Given the description of an element on the screen output the (x, y) to click on. 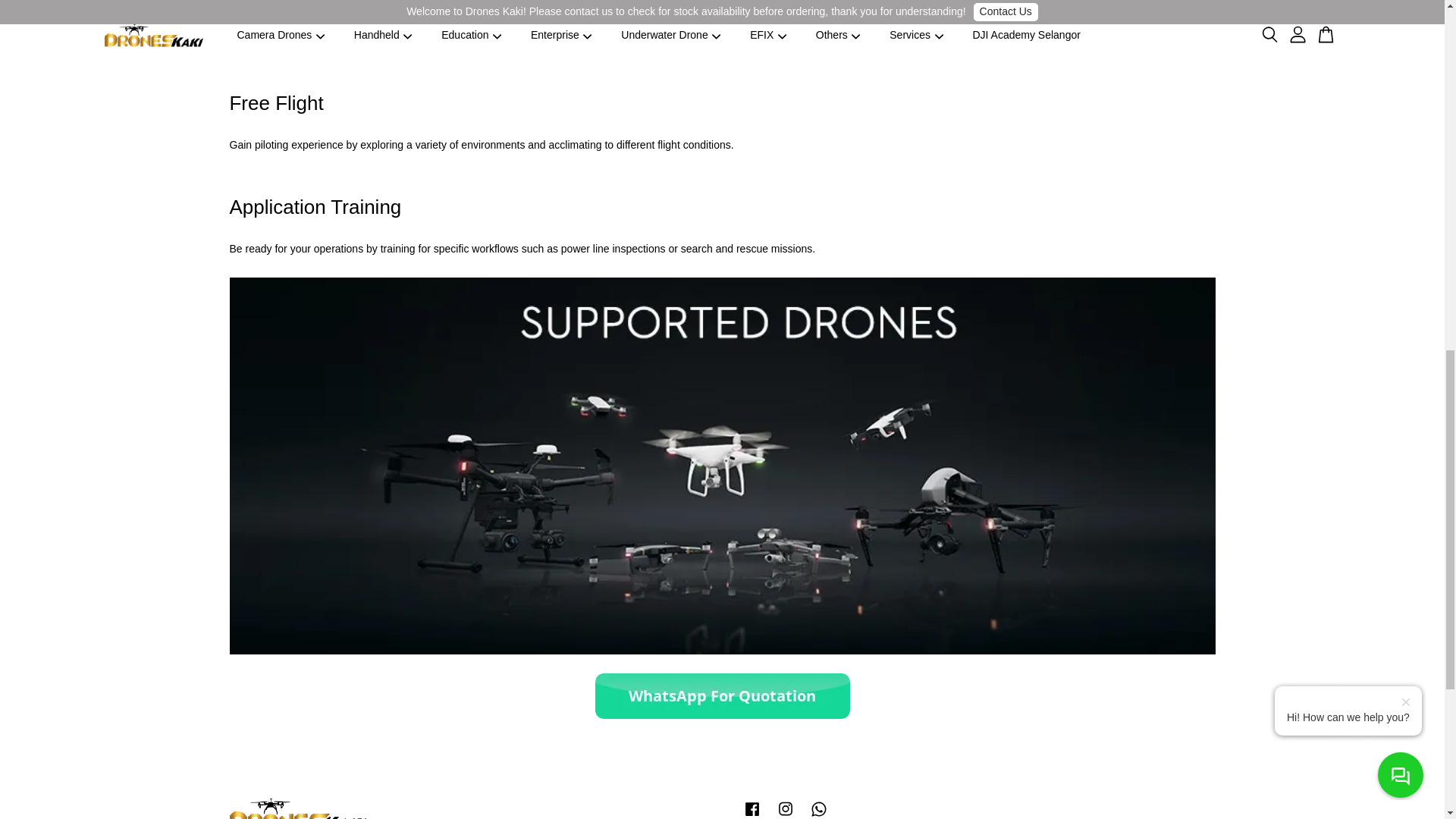
icon-instagram (785, 808)
icon-whatsapp (818, 808)
icon-facebook (751, 808)
